Given the description of an element on the screen output the (x, y) to click on. 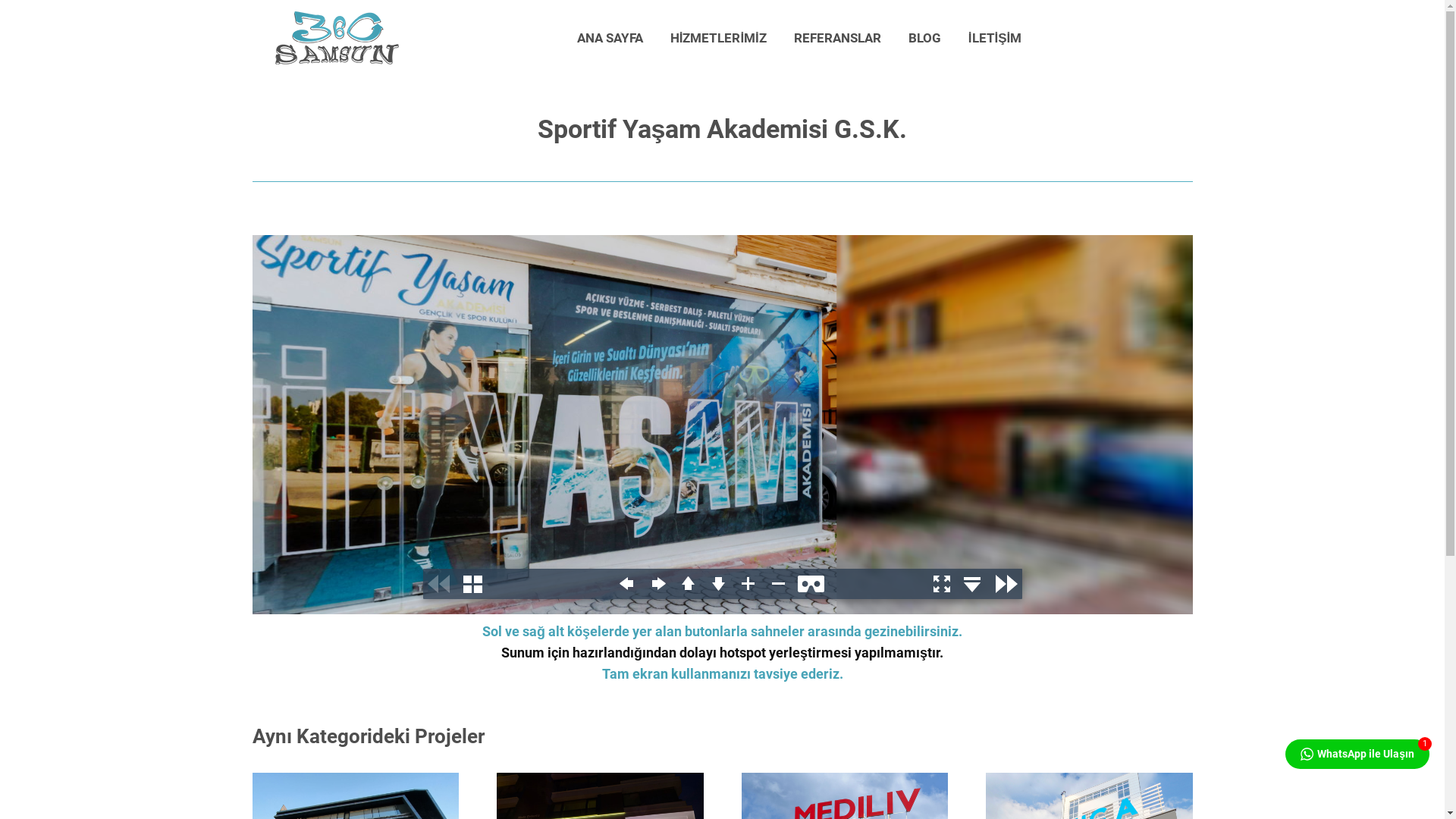
BLOG Element type: text (924, 37)
REFERANSLAR Element type: text (837, 37)
ANA SAYFA Element type: text (610, 37)
